Given the description of an element on the screen output the (x, y) to click on. 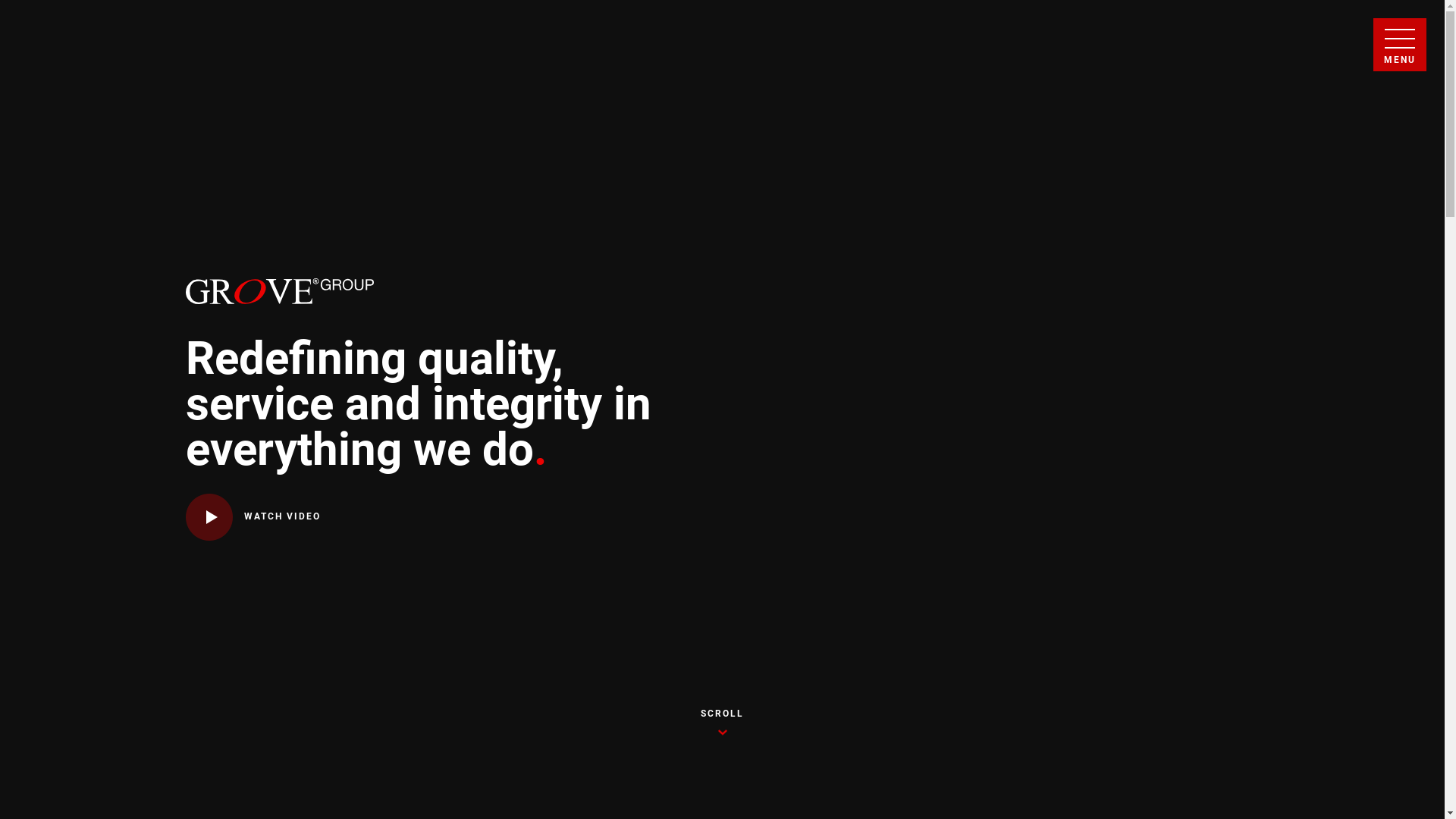
Grove Group Element type: text (279, 291)
WATCH VIDEO Element type: text (252, 516)
SCROLL Element type: text (722, 721)
